Given the description of an element on the screen output the (x, y) to click on. 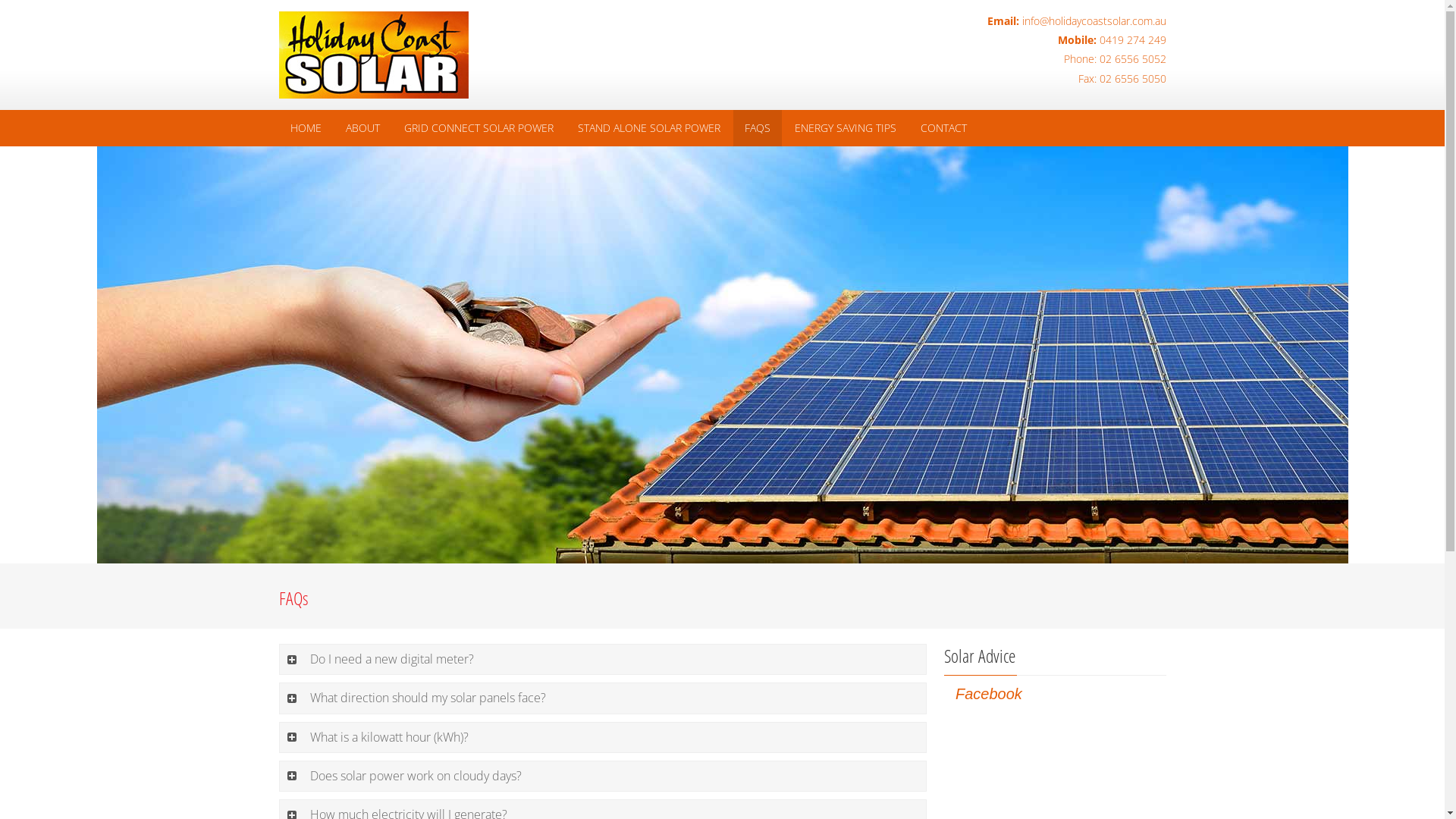
info@holidaycoastsolar.com.au Element type: text (1094, 20)
ABOUT Element type: text (361, 127)
STAND ALONE SOLAR POWER Element type: text (648, 127)
FAQS Element type: text (756, 127)
ENERGY SAVING TIPS Element type: text (844, 127)
HOME Element type: text (305, 127)
GRID CONNECT SOLAR POWER Element type: text (478, 127)
CONTACT Element type: text (942, 127)
Facebook Element type: text (988, 693)
